Given the description of an element on the screen output the (x, y) to click on. 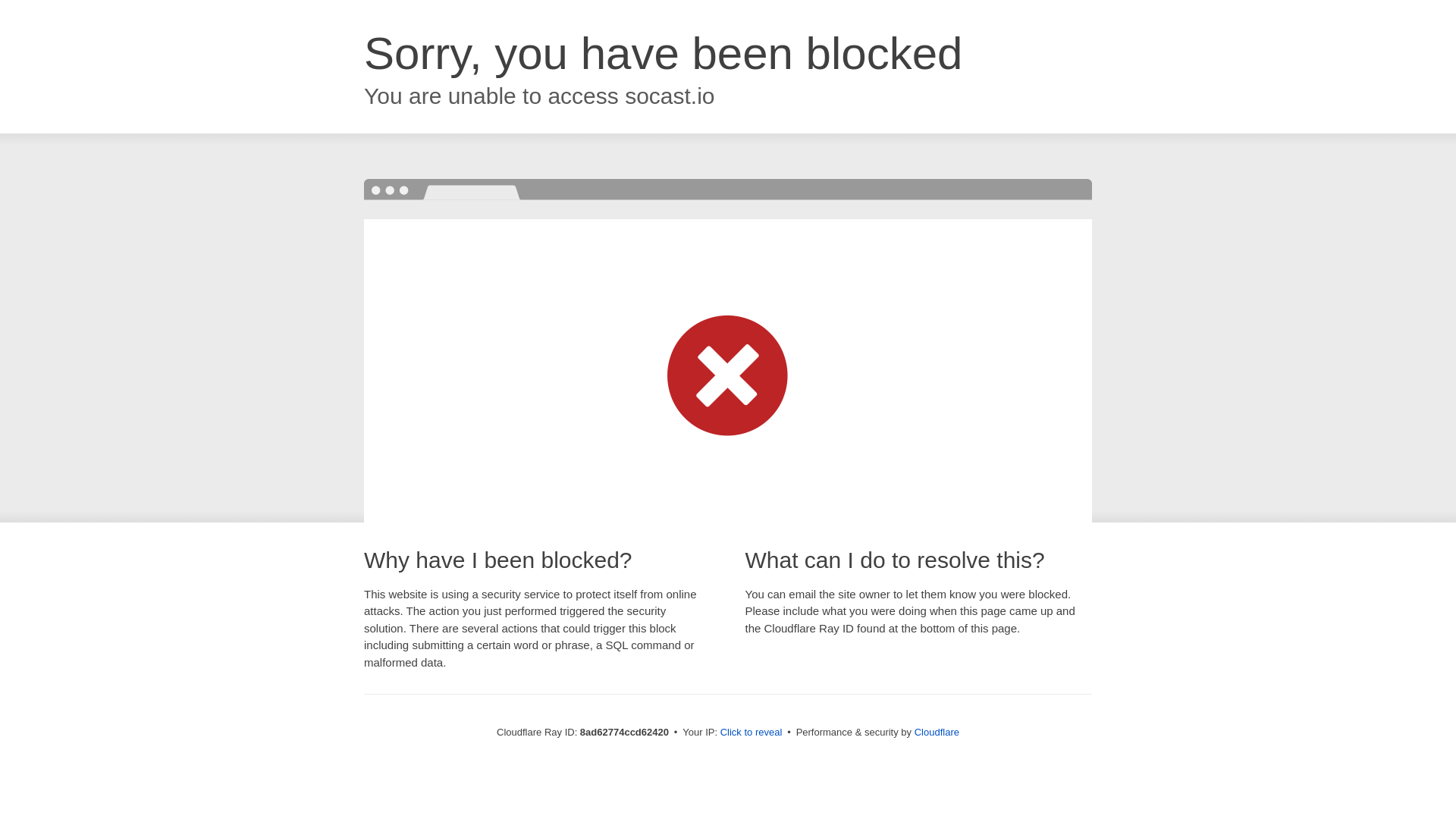
Cloudflare (936, 731)
Click to reveal (751, 732)
